Given the description of an element on the screen output the (x, y) to click on. 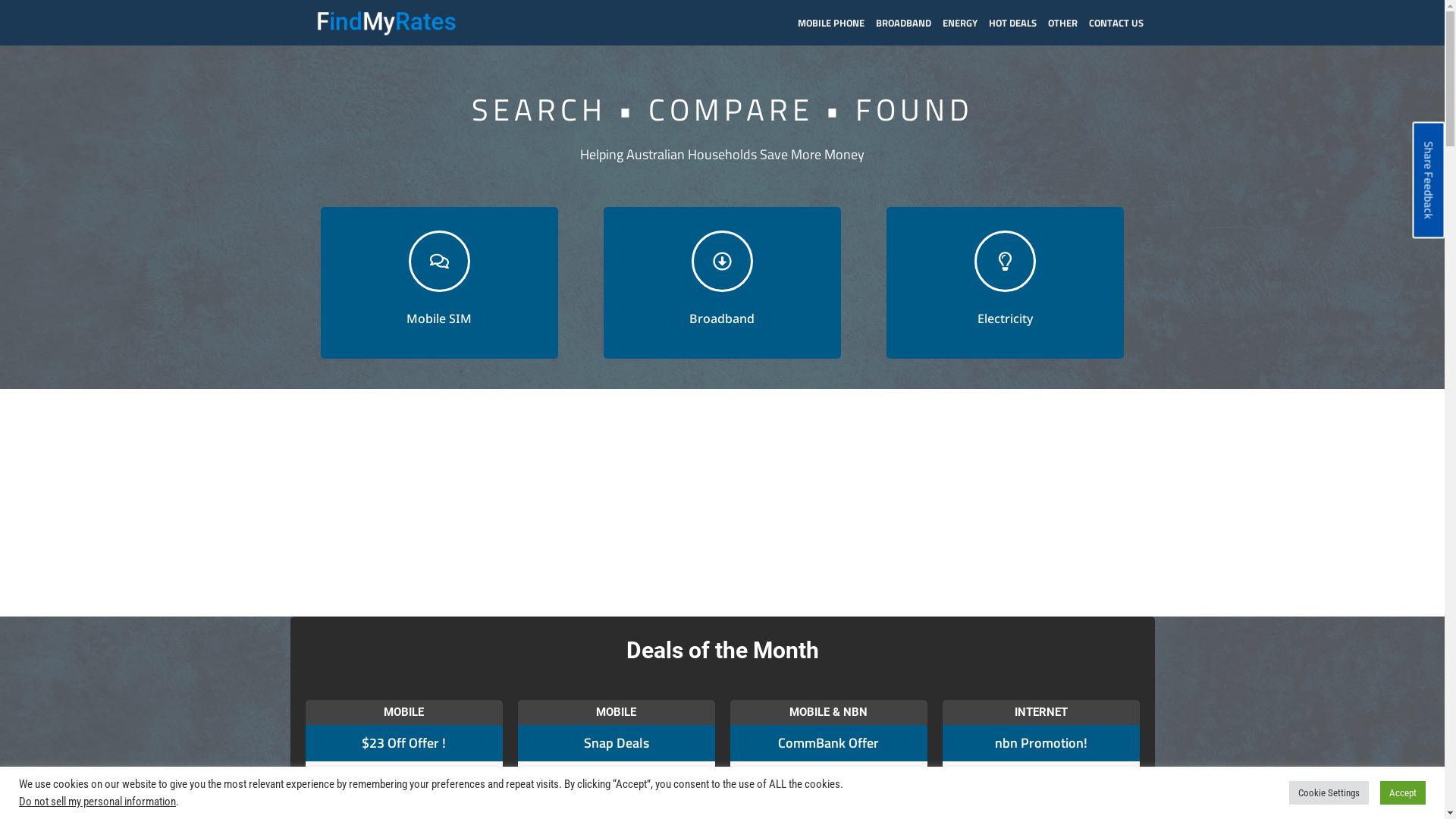
OTHER Element type: text (1068, 22)
Accept Element type: text (1402, 792)
BROADBAND Element type: text (908, 22)
HOT DEALS Element type: text (1018, 22)
Electricity Element type: text (1004, 282)
Broadband Element type: text (721, 282)
Mobile SIM Element type: text (438, 282)
Advertisement Element type: hover (721, 502)
MOBILE PHONE Element type: text (836, 22)
ENERGY Element type: text (964, 22)
Cookie Settings Element type: text (1328, 792)
CONTACT US Element type: text (1121, 22)
Do not sell my personal information Element type: text (96, 801)
